Given the description of an element on the screen output the (x, y) to click on. 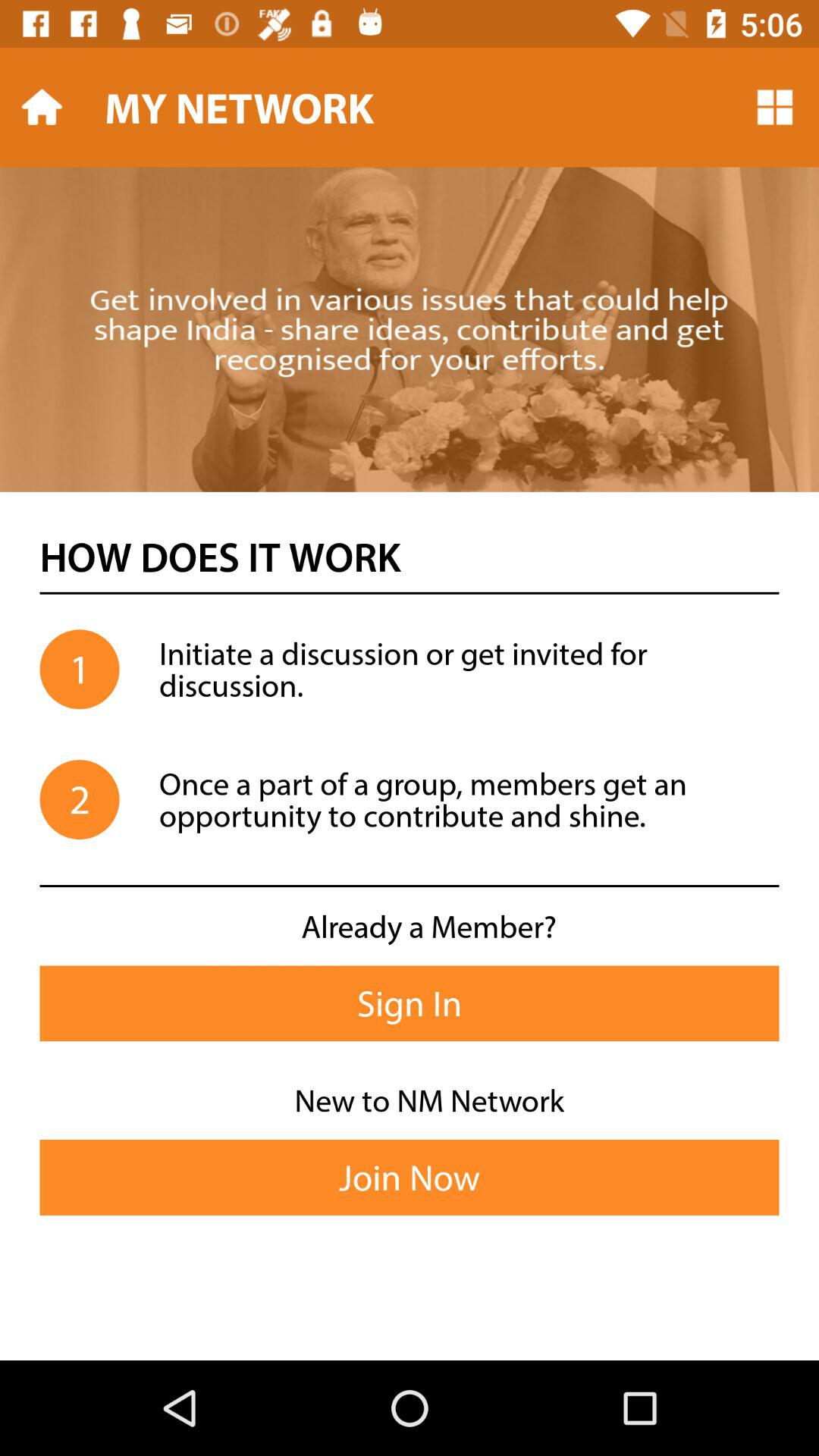
choose the icon below already a member? (409, 1003)
